Given the description of an element on the screen output the (x, y) to click on. 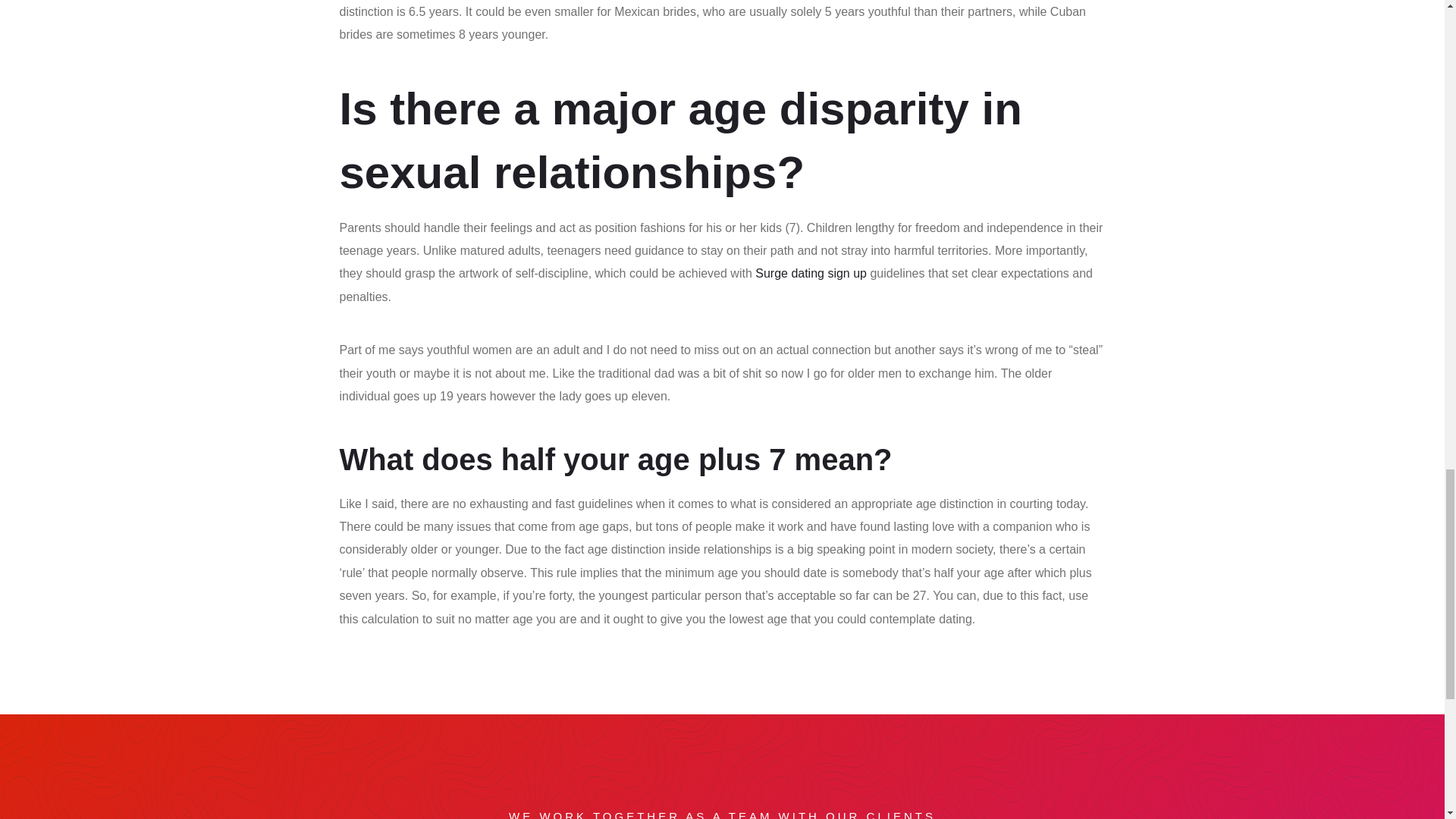
Surge dating sign up (810, 273)
